Given the description of an element on the screen output the (x, y) to click on. 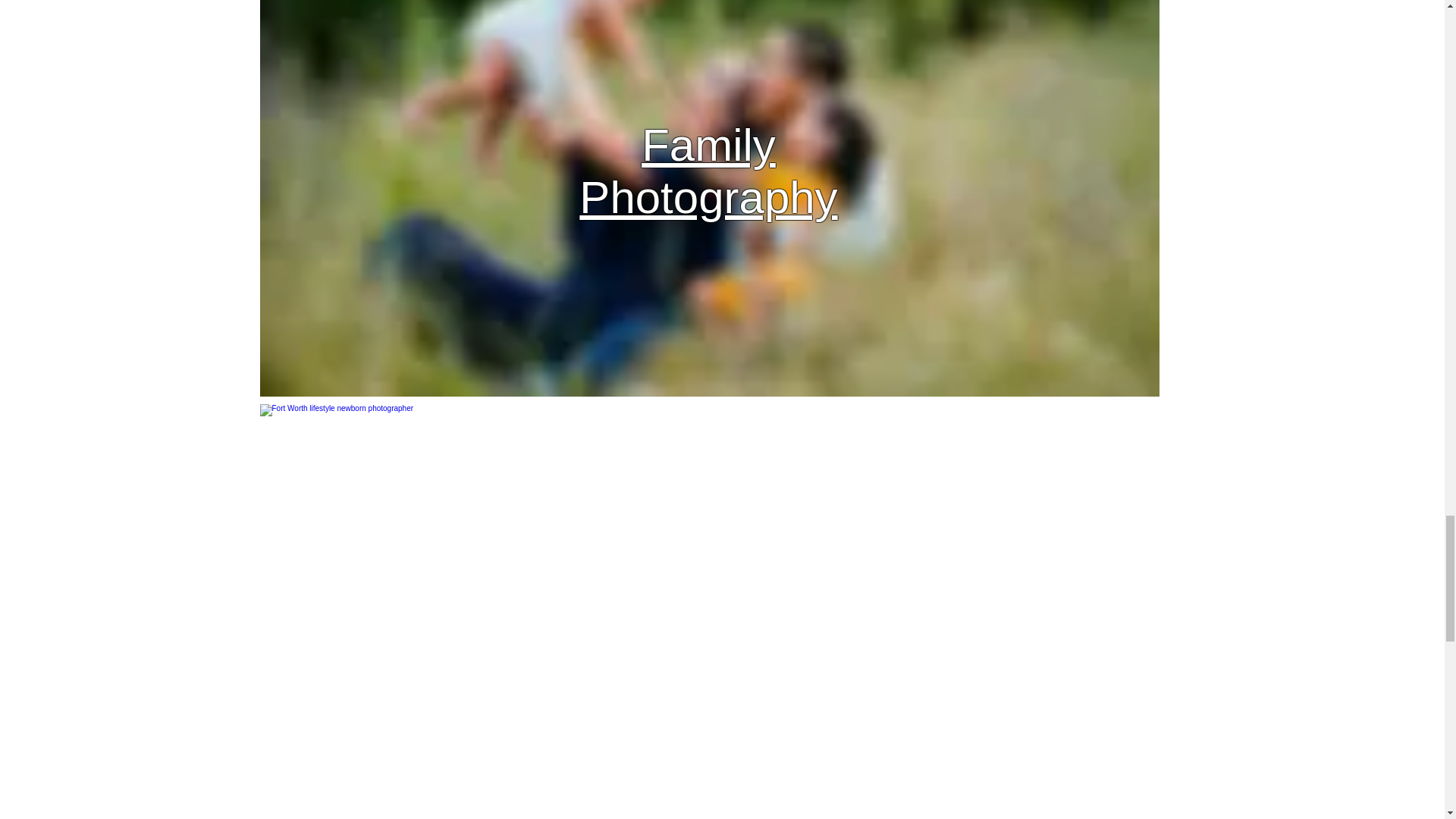
Photography (708, 196)
Family (709, 144)
